Given the description of an element on the screen output the (x, y) to click on. 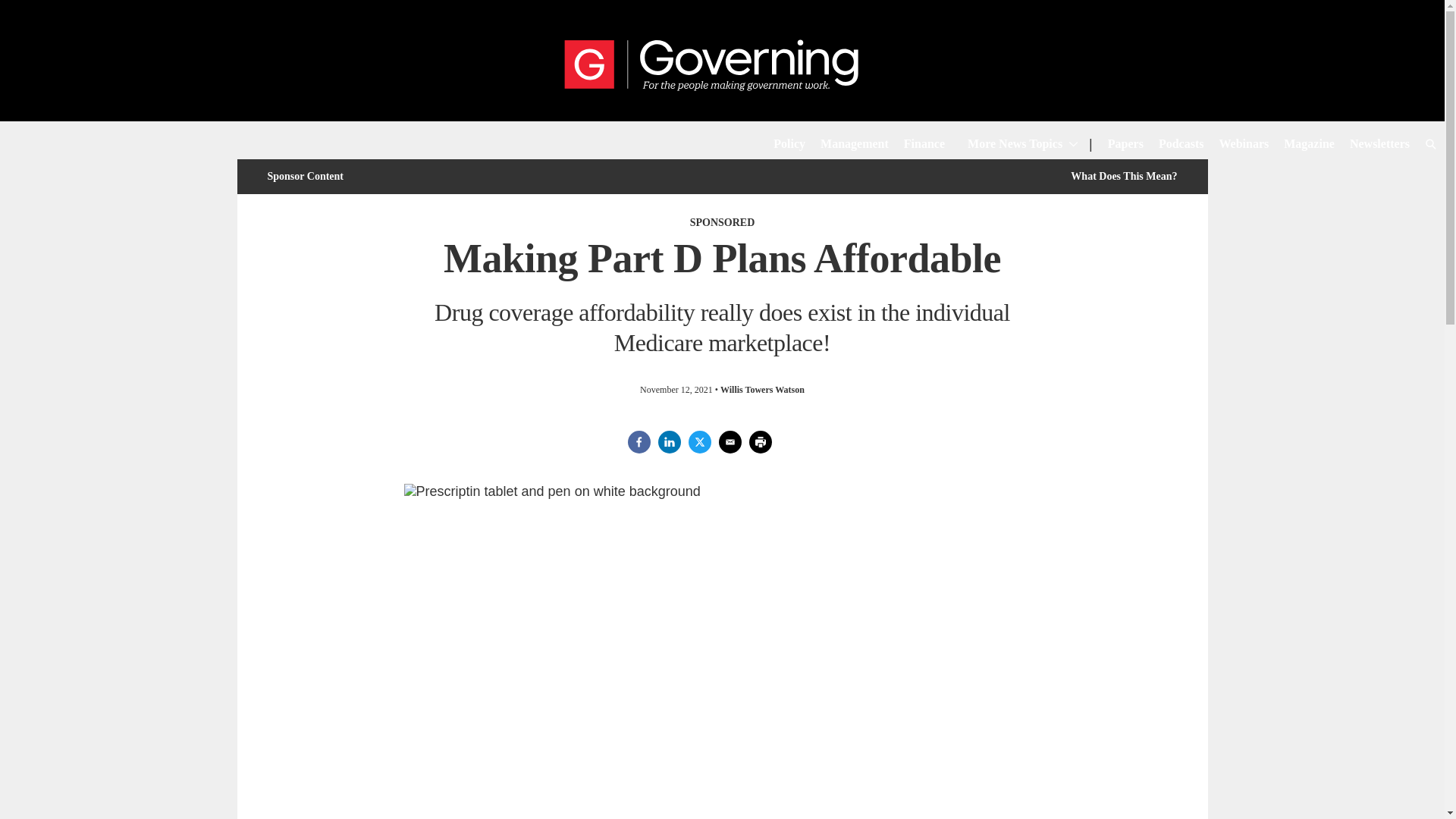
Newsletters (1379, 145)
Podcasts (1181, 145)
Webinars (1243, 145)
Papers (1125, 145)
Finance (924, 145)
Magazine (1309, 145)
Management (854, 145)
Policy (788, 145)
